Given the description of an element on the screen output the (x, y) to click on. 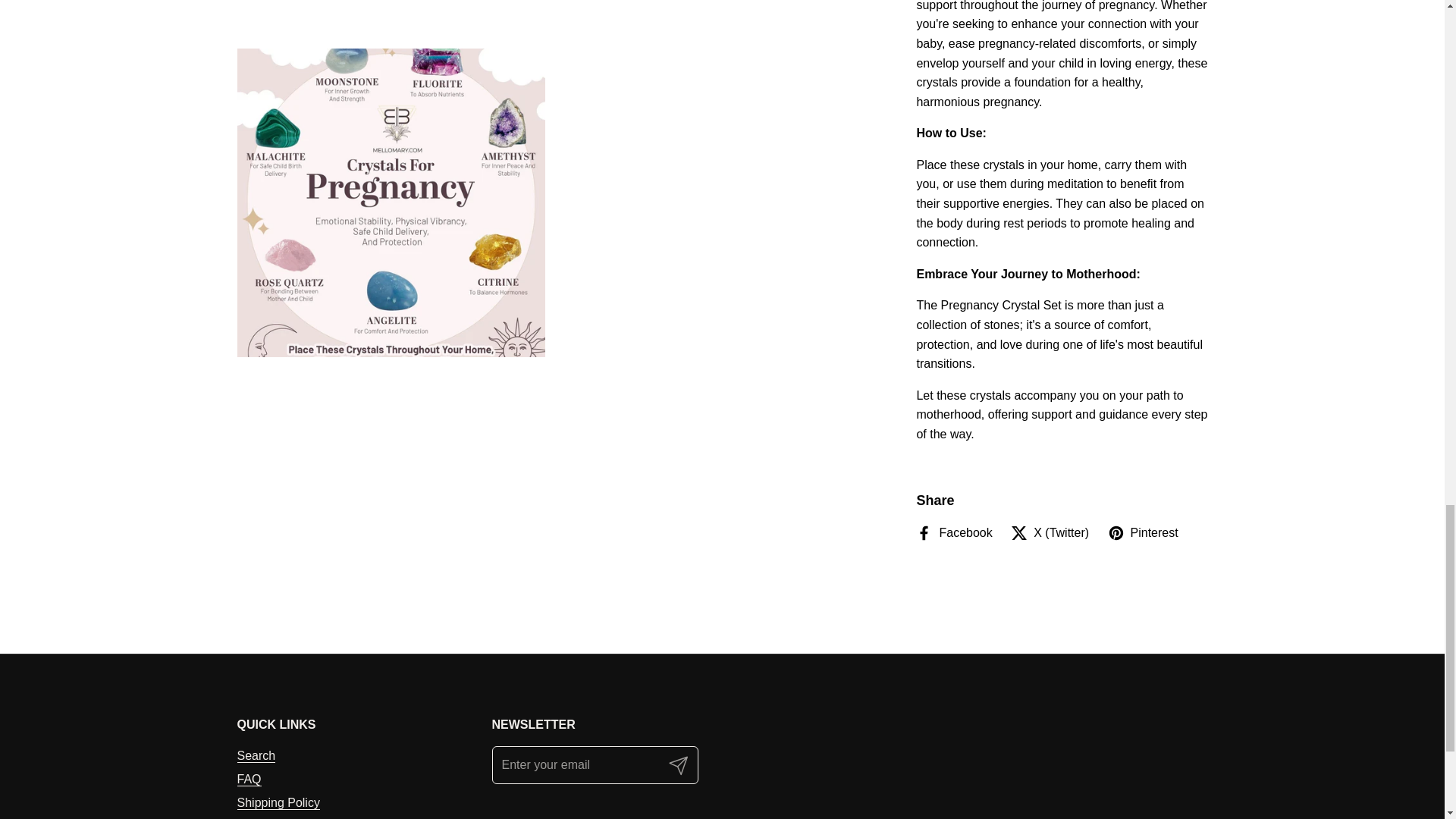
Share on facebook (953, 532)
Share on pinterest (1142, 532)
Share on X (1049, 532)
